Given the description of an element on the screen output the (x, y) to click on. 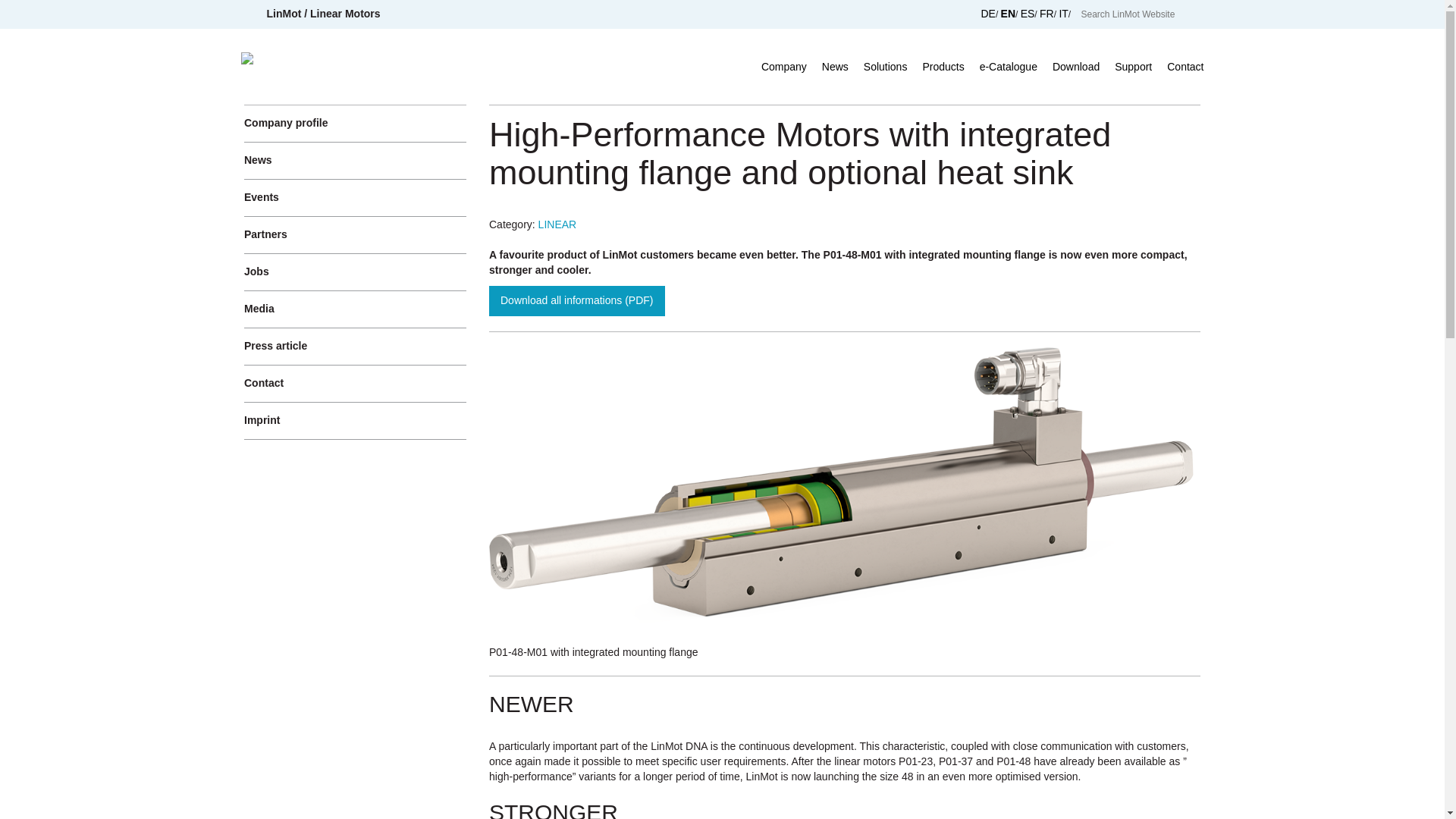
Contact (1184, 66)
EN (1007, 13)
ES (1027, 13)
Company (783, 66)
EN (1007, 13)
Support (1132, 66)
DE (986, 13)
DE (986, 13)
FR (1046, 13)
FR (1046, 13)
